Given the description of an element on the screen output the (x, y) to click on. 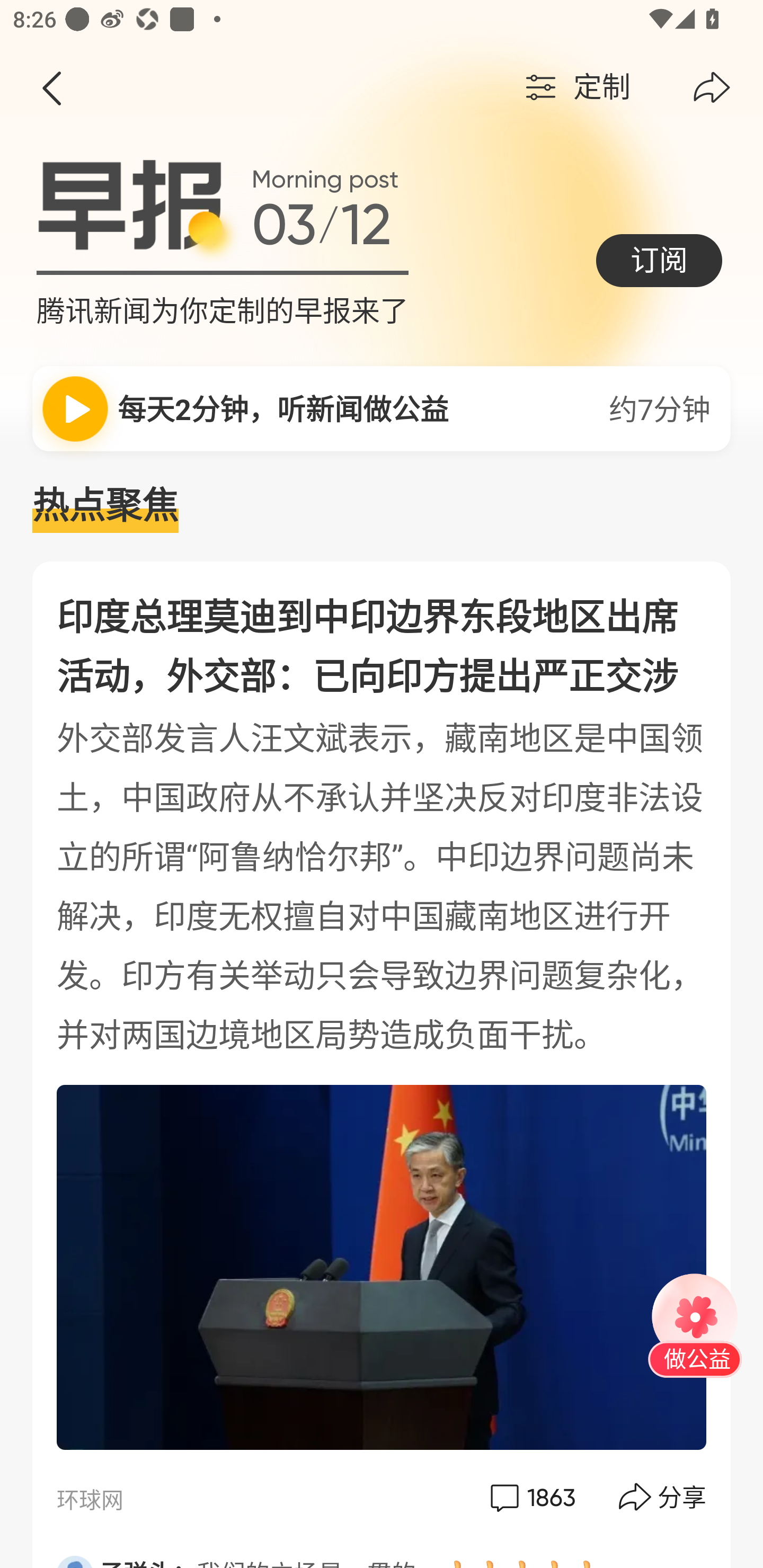
 (50, 87)
 定制 (575, 87)
 (711, 87)
订阅 (658, 259)
 每天2分钟，听新闻做公益 约7分钟 (381, 407)
热点聚焦 (381, 506)
评论  1863 (531, 1497)
 分享 (663, 1497)
